Given the description of an element on the screen output the (x, y) to click on. 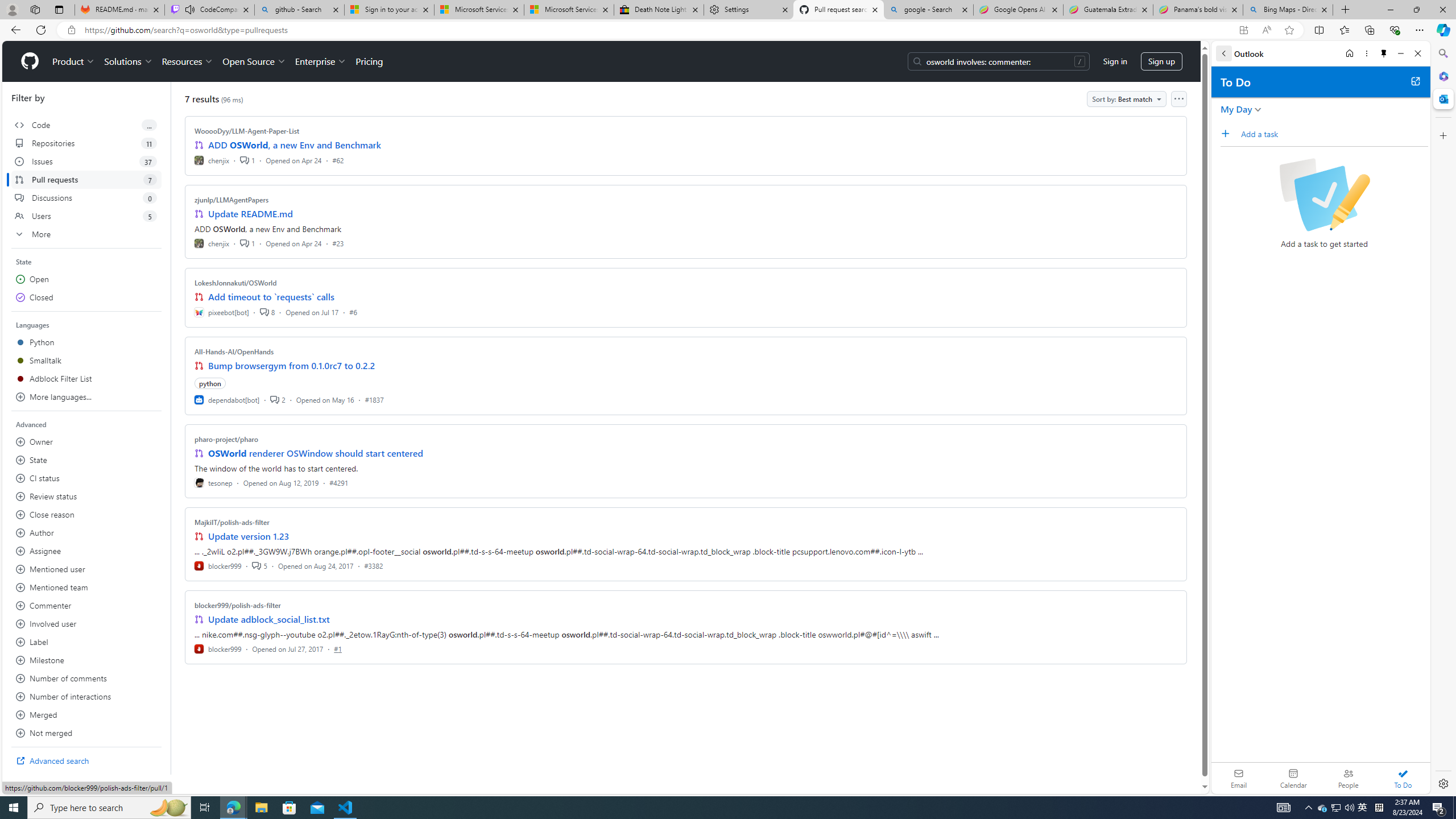
App available. Install GitHub (1243, 29)
#4291 (338, 482)
ADD OSWorld, a new Env and Benchmark (294, 144)
All-Hands-AI/OpenHands (234, 351)
Draggable pane splitter (169, 427)
